Given the description of an element on the screen output the (x, y) to click on. 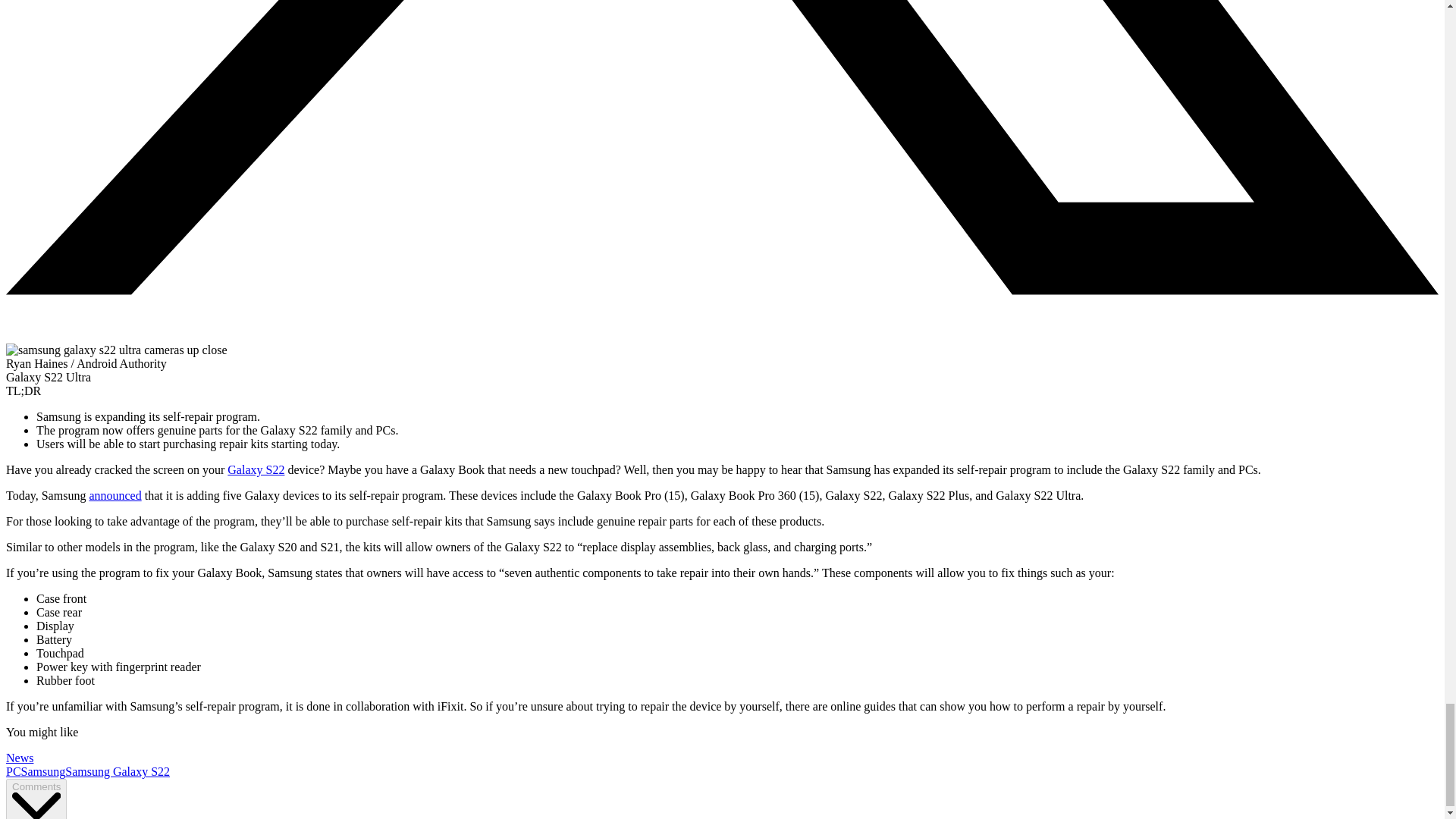
Galaxy S22 (255, 469)
PC (13, 771)
Samsung Galaxy S22 (117, 771)
samsung galaxy s22 ultra cameras up close (116, 350)
announced (114, 495)
News (19, 757)
Samsung (43, 771)
